Given the description of an element on the screen output the (x, y) to click on. 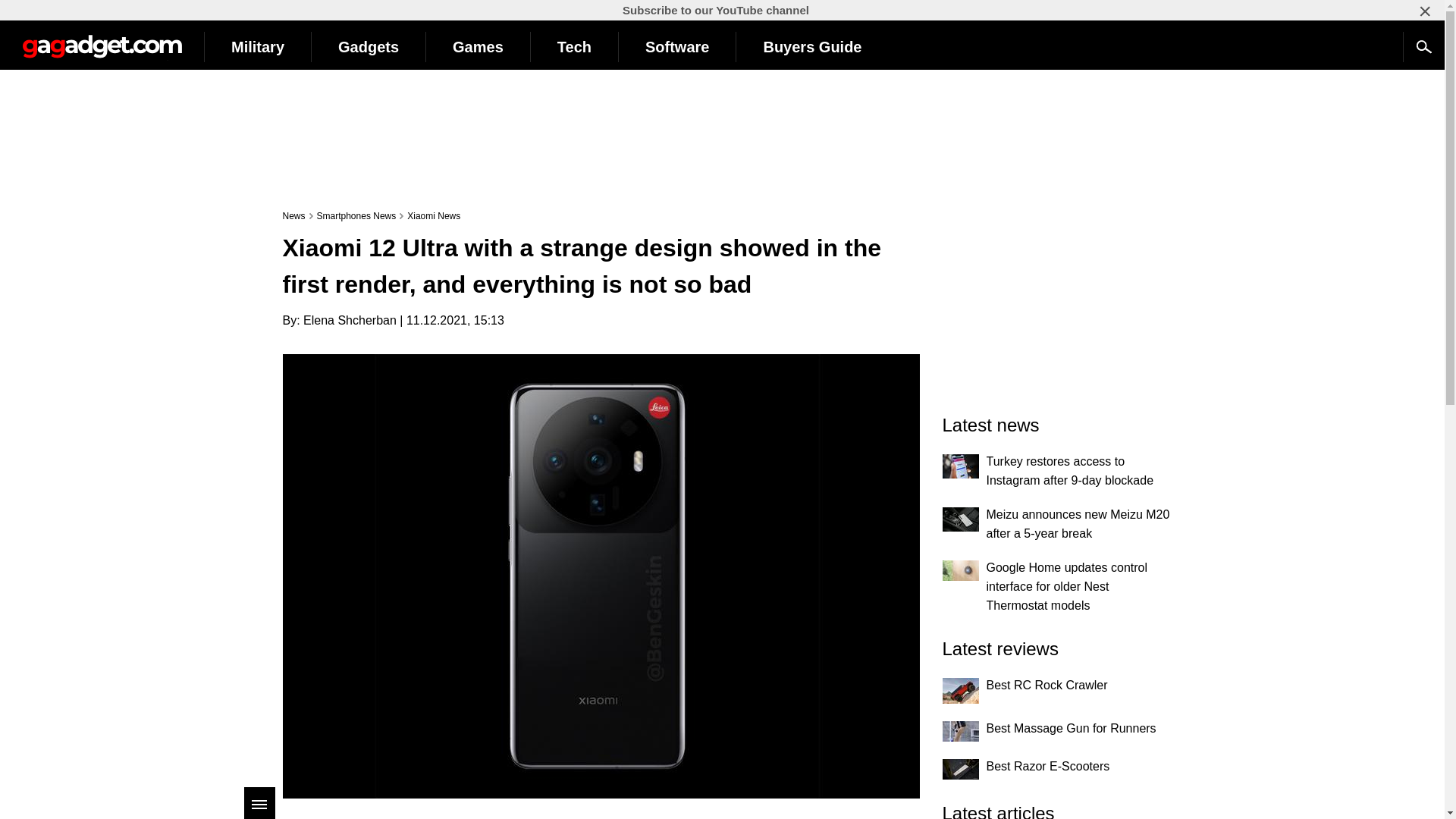
Best RC Rock Crawler (960, 690)
Turkey restores access to Instagram after 9-day blockade (960, 466)
Meizu announces new Meizu M20 after a 5-year break (960, 518)
Subscribe to our YouTube channel (716, 10)
Best Massage Gun for Runners (960, 731)
